Given the description of an element on the screen output the (x, y) to click on. 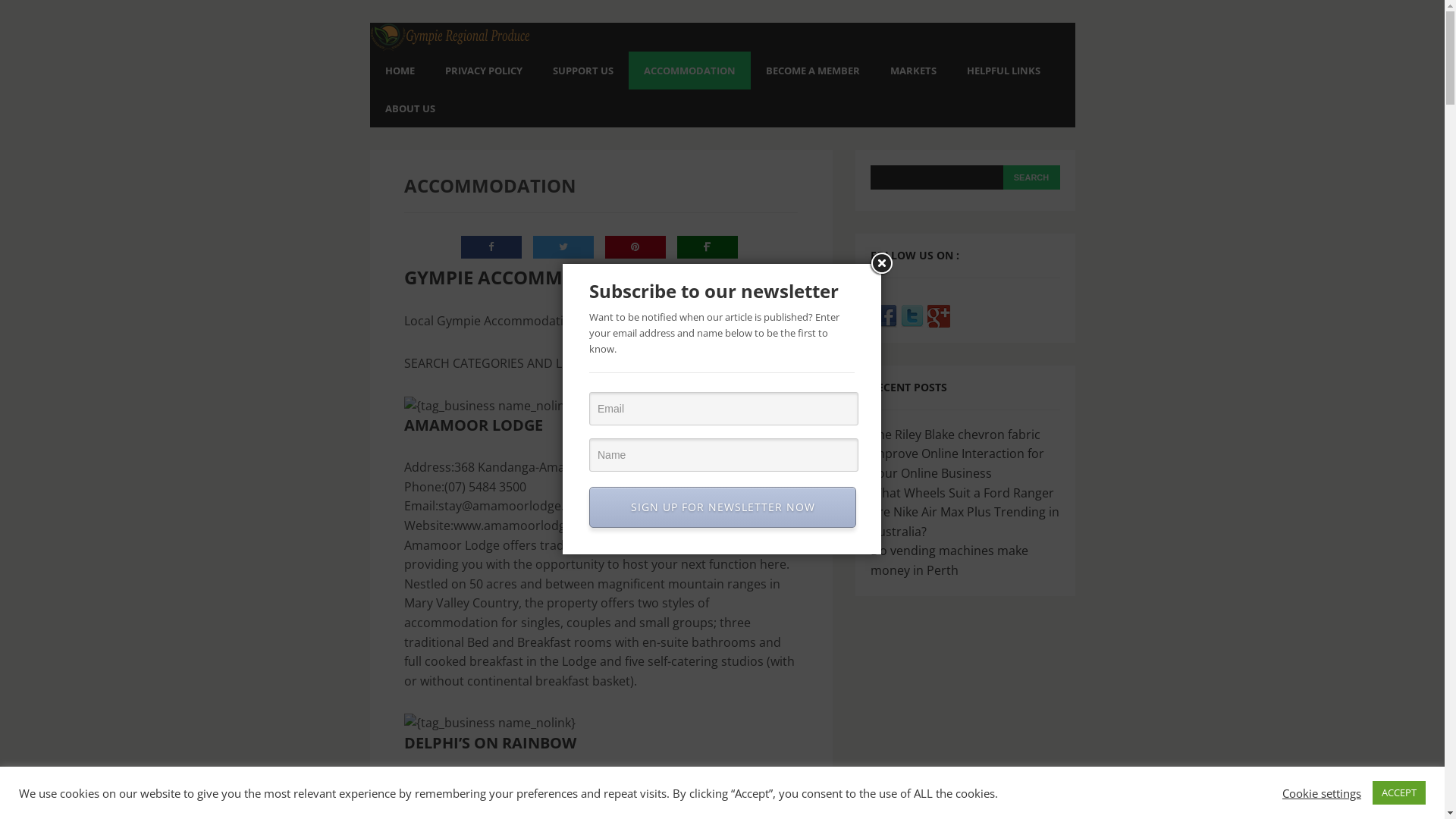
SIGN UP FOR NEWSLETTER NOW Element type: text (722, 506)
HELPFUL LINKS Element type: text (1002, 70)
Search Element type: text (1030, 177)
MARKETS Element type: text (913, 70)
Do vending machines make money in Perth Element type: text (949, 560)
Are Nike Air Max Plus Trending in Australia? Element type: text (964, 521)
Improve Online Interaction for Your Online Business Element type: text (957, 463)
SUPPORT US Element type: text (581, 70)
The Riley Blake chevron fabric Element type: text (955, 434)
ACCEPT Element type: text (1398, 792)
What Wheels Suit a Ford Ranger Element type: text (962, 492)
BECOME A MEMBER Element type: text (812, 70)
PRIVACY POLICY Element type: text (482, 70)
ACCOMMODATION Element type: text (688, 70)
ABOUT US Element type: text (410, 108)
Gympie Regional Produce Element type: hover (449, 40)
Cookie settings Element type: text (1321, 792)
HOME Element type: text (399, 70)
